Given the description of an element on the screen output the (x, y) to click on. 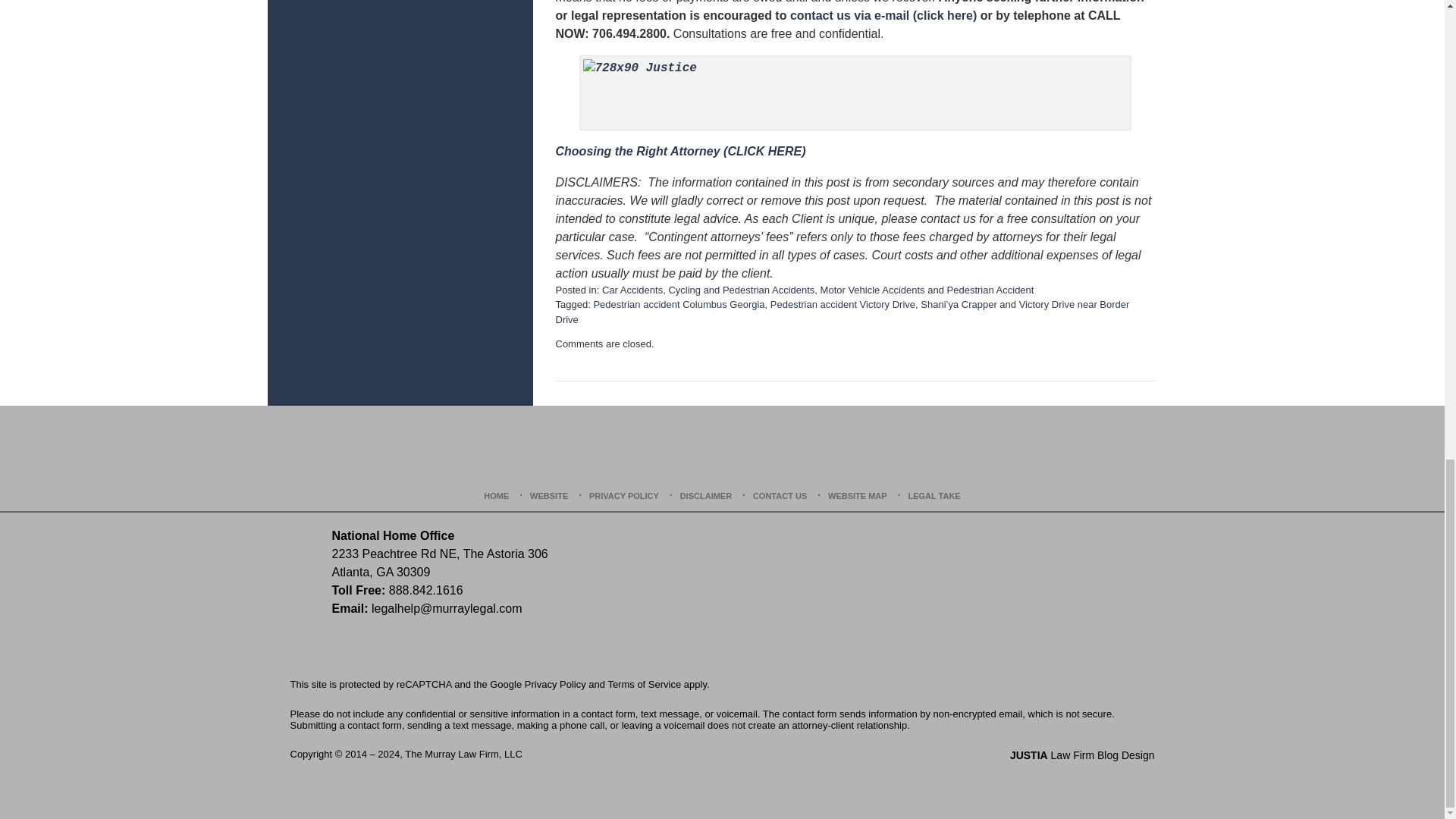
Pedestrian accident Victory Drive (842, 304)
Victory Drive near Border Drive (841, 311)
View all posts tagged with Victory Drive near Border Drive (841, 311)
View all posts in Motor Vehicle Accidents (872, 289)
View all posts in Cycling and Pedestrian Accidents (740, 289)
View all posts tagged with Pedestrian accident Victory Drive (842, 304)
Cycling and Pedestrian Accidents (740, 289)
View all posts in Pedestrian Accident (990, 289)
Motor Vehicle Accidents (872, 289)
Pedestrian accident Columbus Georgia (678, 304)
View all posts in Car Accidents (632, 289)
Pedestrian Accident (990, 289)
Car Accidents (632, 289)
